Given the description of an element on the screen output the (x, y) to click on. 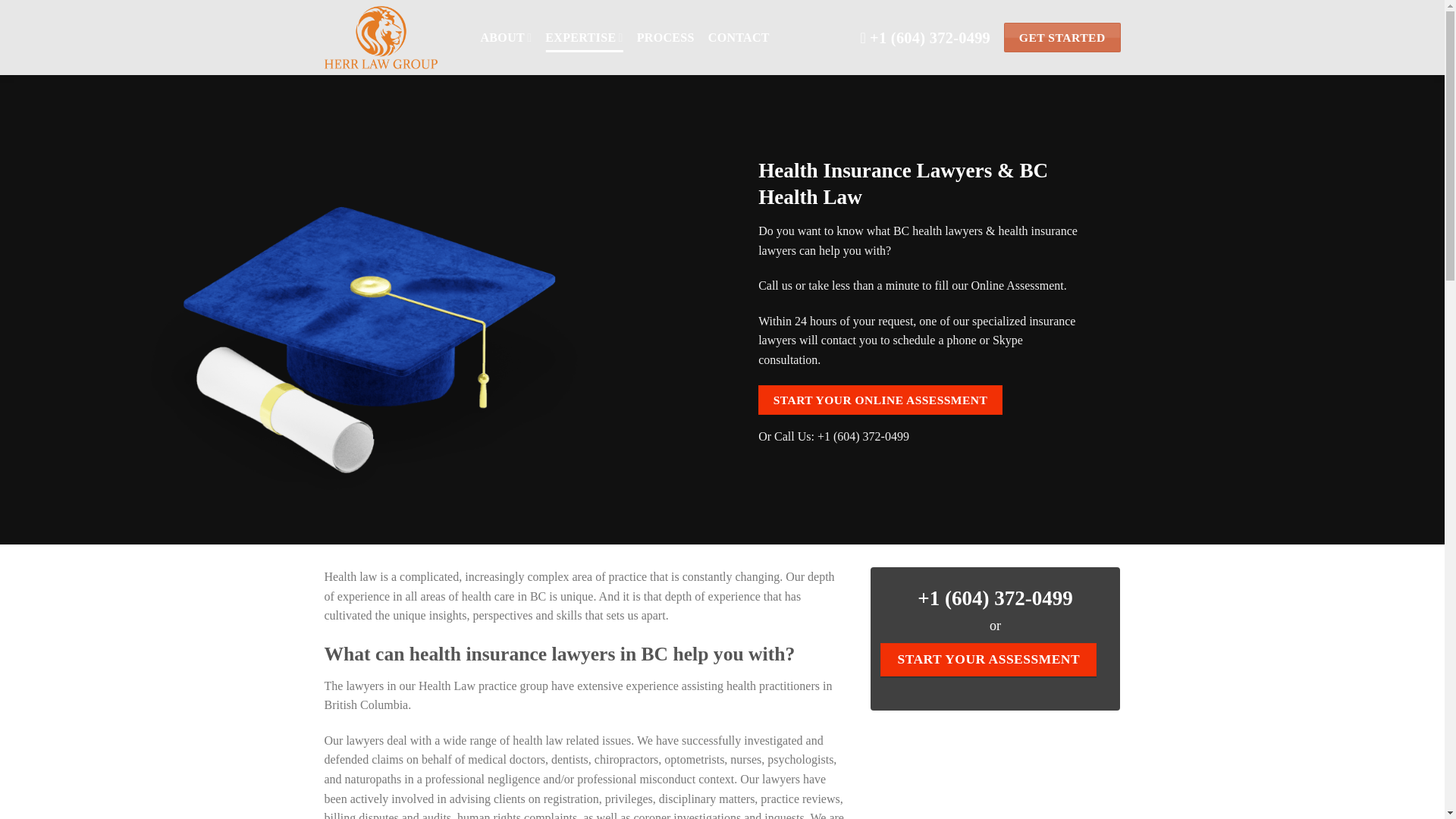
Herr Law Group - Immigration Lawyers Vancouver (391, 37)
EXPERTISE (583, 37)
ABOUT (506, 37)
